Given the description of an element on the screen output the (x, y) to click on. 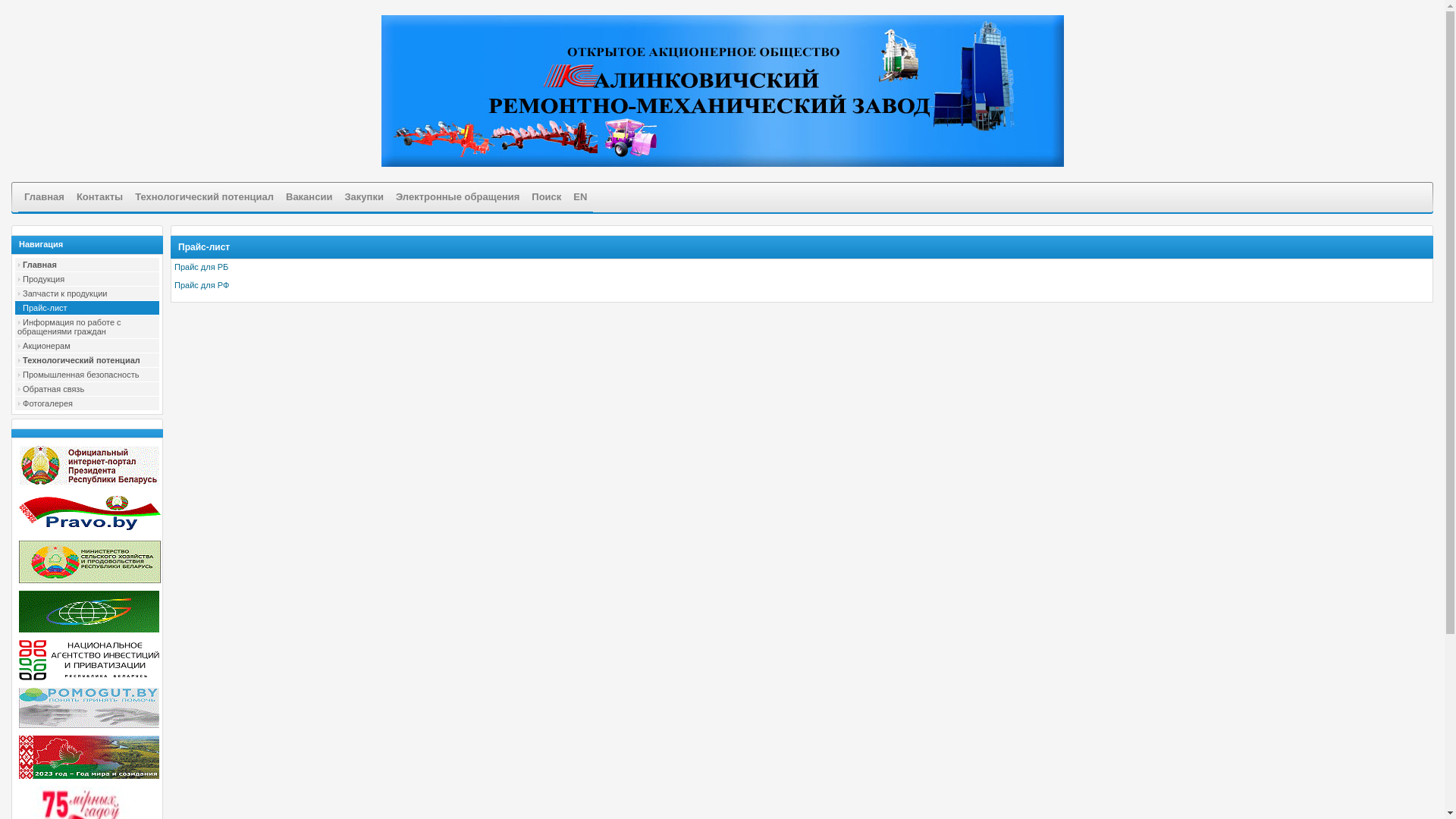
EN Element type: text (580, 197)
